Given the description of an element on the screen output the (x, y) to click on. 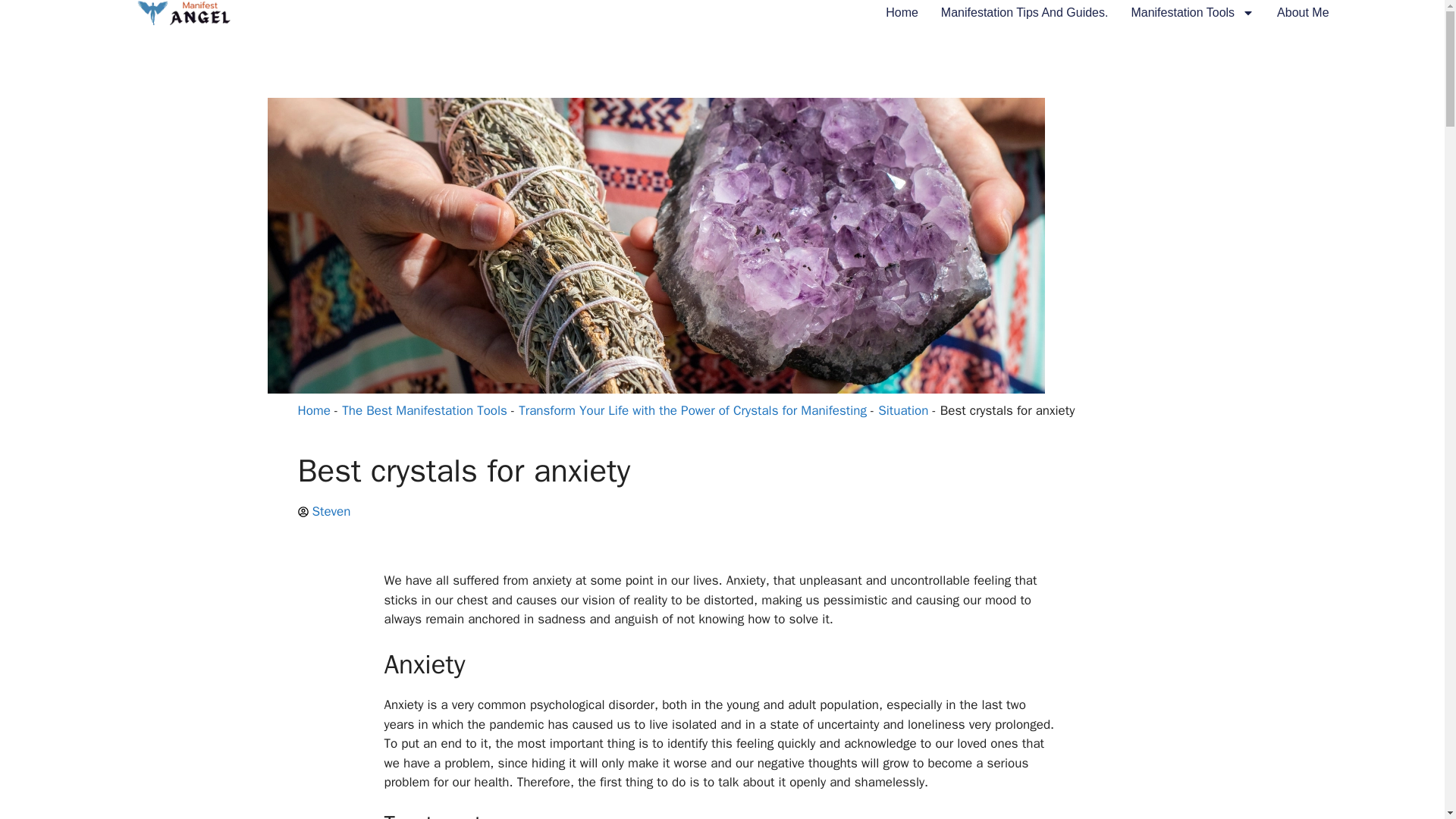
Manifestation Tips And Guides. (1024, 12)
Steven (323, 511)
The Best Manifestation Tools (424, 410)
Situation (902, 410)
About Me (1301, 12)
Home (901, 12)
Manifestation Tools (1192, 12)
Home (313, 410)
